Given the description of an element on the screen output the (x, y) to click on. 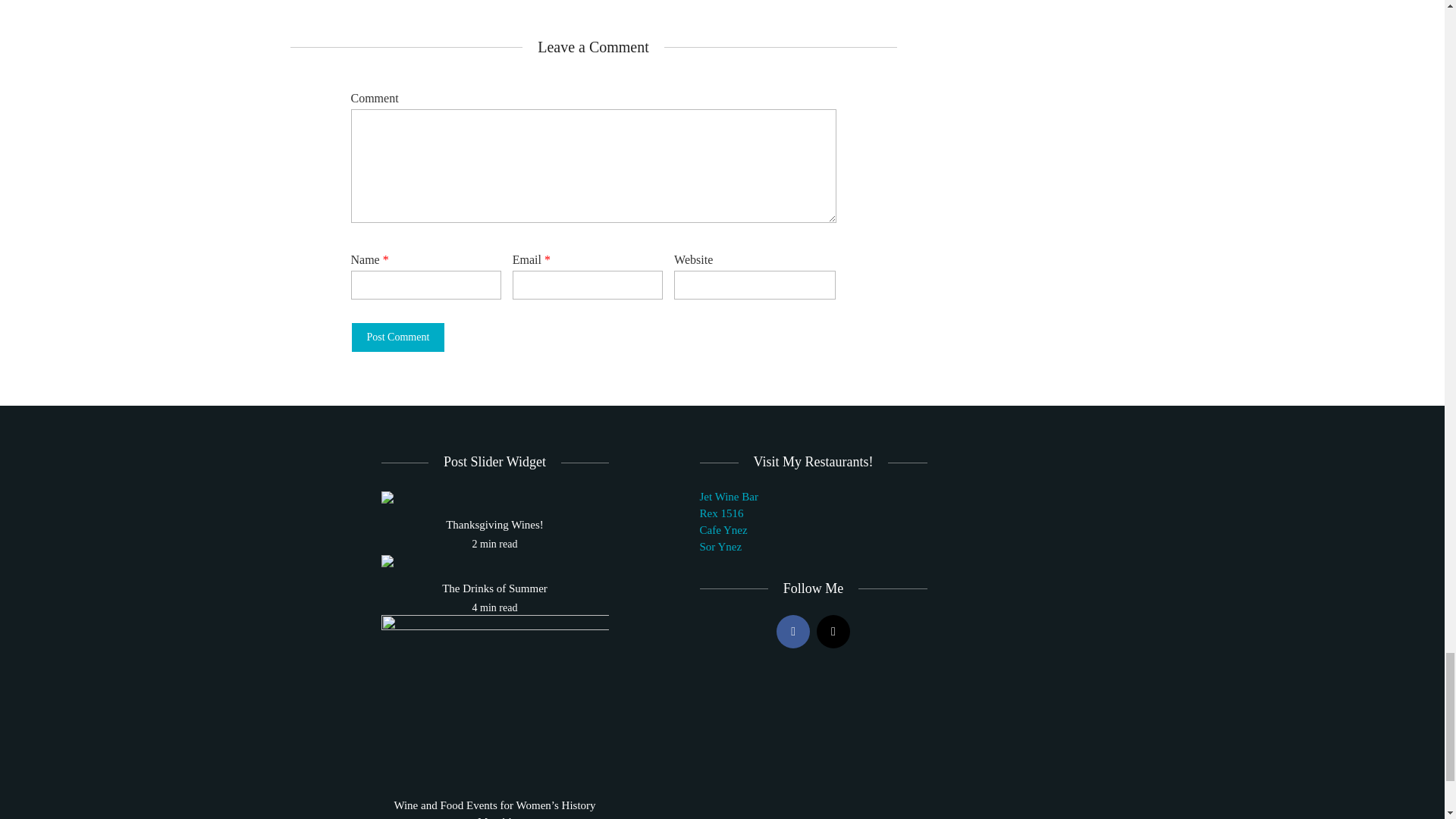
The Drinks of Summer (386, 560)
Thanksgiving Wines! (386, 496)
The Drinks of Summer (494, 588)
Thanksgiving Wines! (494, 524)
Post Comment (397, 337)
Instagram (833, 631)
Facebook (792, 631)
